Given the description of an element on the screen output the (x, y) to click on. 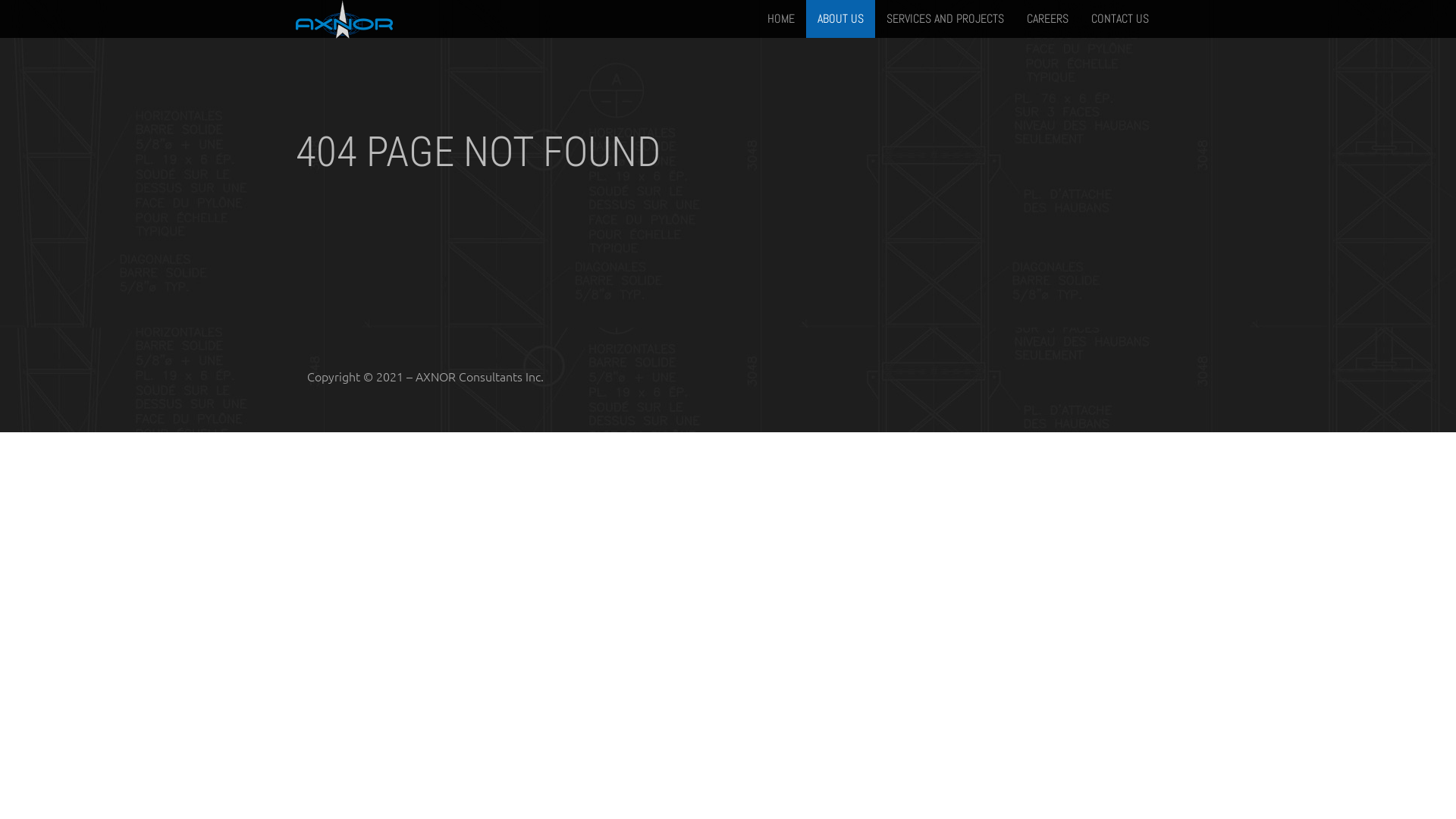
HOME Element type: text (781, 18)
CAREERS Element type: text (1047, 18)
ABOUT US Element type: text (840, 18)
CONTACT US Element type: text (1119, 18)
SERVICES AND PROJECTS Element type: text (945, 18)
